Given the description of an element on the screen output the (x, y) to click on. 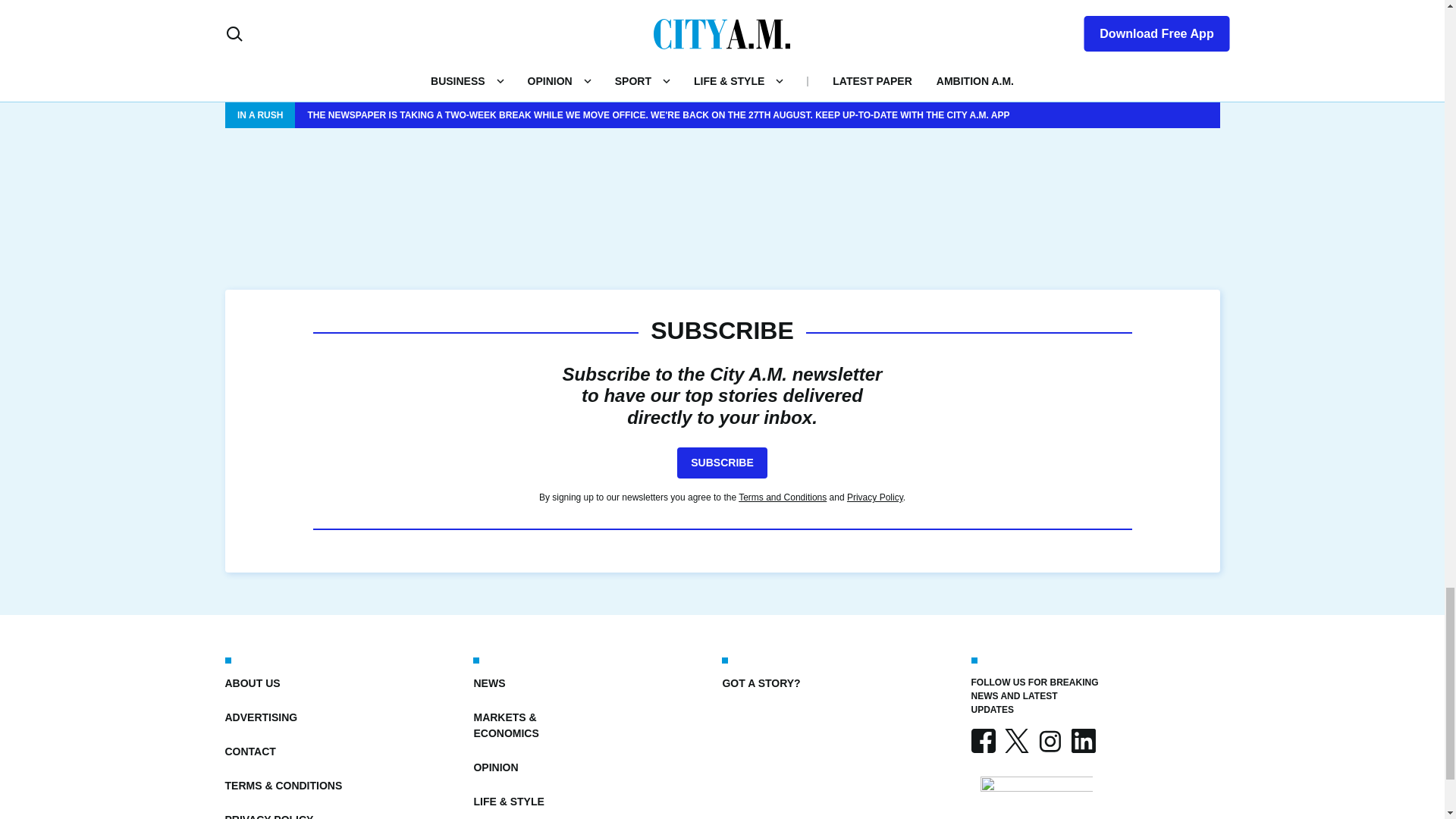
INSTAGRAM (1048, 740)
FACEBOOK (982, 740)
LINKEDIN (1082, 740)
X (1015, 740)
